Given the description of an element on the screen output the (x, y) to click on. 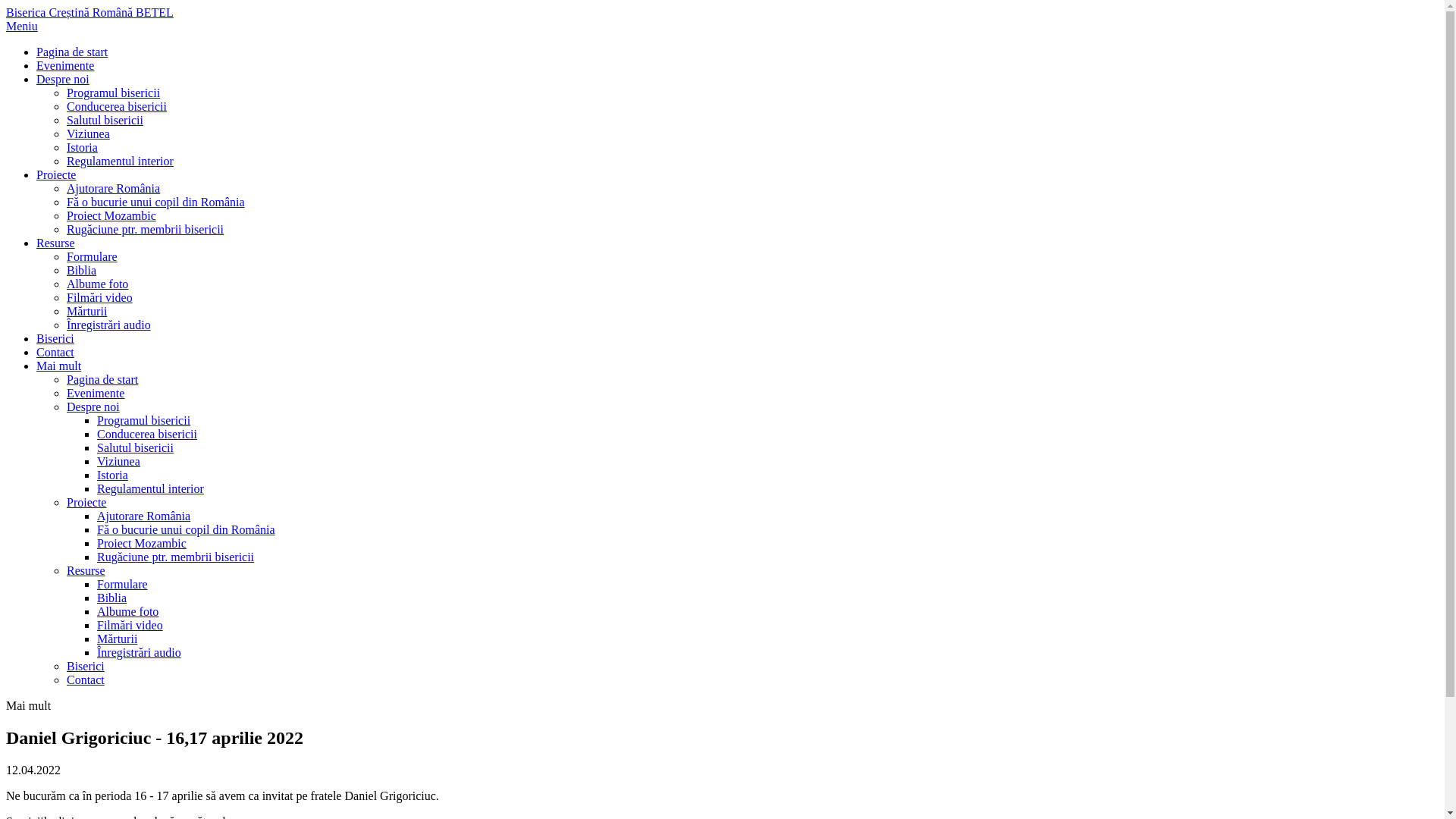
Viziunea Element type: text (118, 461)
Pagina de start Element type: text (102, 379)
Resurse Element type: text (55, 242)
Formulare Element type: text (122, 583)
Proiect Mozambic Element type: text (111, 215)
Proiecte Element type: text (55, 174)
Resurse Element type: text (85, 570)
Salutul bisericii Element type: text (135, 447)
Evenimente Element type: text (65, 65)
Salutul bisericii Element type: text (104, 119)
Istoria Element type: text (81, 147)
Meniu Element type: text (21, 25)
Istoria Element type: text (112, 474)
Conducerea bisericii Element type: text (116, 106)
Proiect Mozambic Element type: text (141, 542)
Albume foto Element type: text (97, 283)
Biblia Element type: text (111, 597)
Regulamentul interior Element type: text (119, 160)
Programul bisericii Element type: text (113, 92)
Despre noi Element type: text (92, 406)
Formulare Element type: text (91, 256)
Biblia Element type: text (81, 269)
Regulamentul interior Element type: text (150, 488)
Contact Element type: text (55, 351)
Biserici Element type: text (55, 338)
Biserici Element type: text (85, 665)
Contact Element type: text (85, 679)
Pagina de start Element type: text (71, 51)
Mai mult Element type: text (58, 365)
Albume foto Element type: text (127, 611)
Evenimente Element type: text (95, 392)
Conducerea bisericii Element type: text (147, 433)
Programul bisericii Element type: text (143, 420)
Proiecte Element type: text (86, 501)
Viziunea Element type: text (87, 133)
Despre noi Element type: text (62, 78)
